Given the description of an element on the screen output the (x, y) to click on. 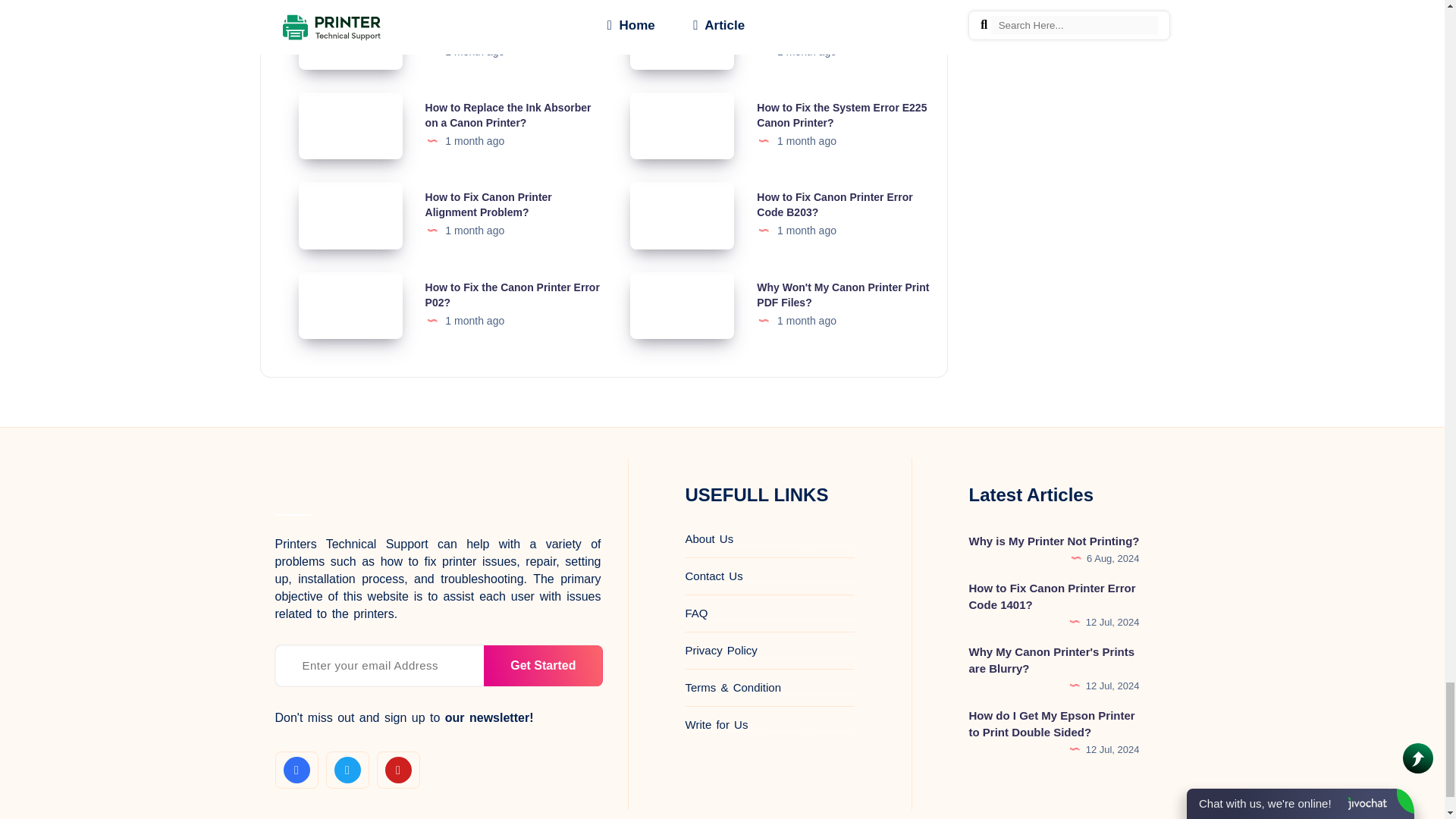
How to Fix the System Error E225 Canon Printer? (841, 114)
How to Replace the Ink Absorber on a Canon Printer? (508, 114)
How to Fix Canon Printer Error Code 1401? (502, 25)
How to Fix Canon Printer Error Code B203? (834, 204)
How to Fix Canon Printer Alignment Problem? (488, 204)
Why My Canon Printer's Prints are Blurry? (843, 25)
Get Started (542, 665)
Why Won't My Canon Printer Print PDF Files? (842, 294)
How to Fix the Canon Printer Error P02? (512, 294)
Subscribe Router Forum (542, 665)
